Given the description of an element on the screen output the (x, y) to click on. 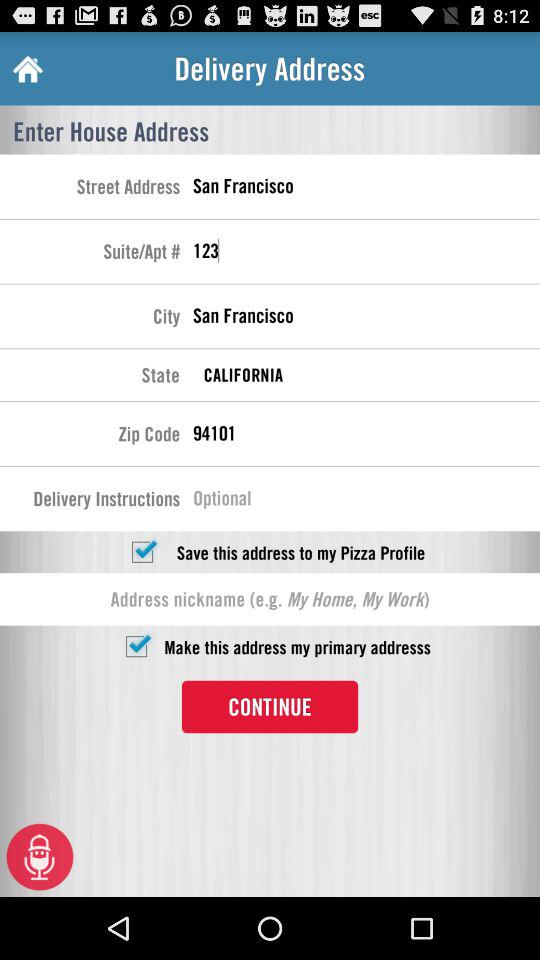
switch primary address option (136, 646)
